Given the description of an element on the screen output the (x, y) to click on. 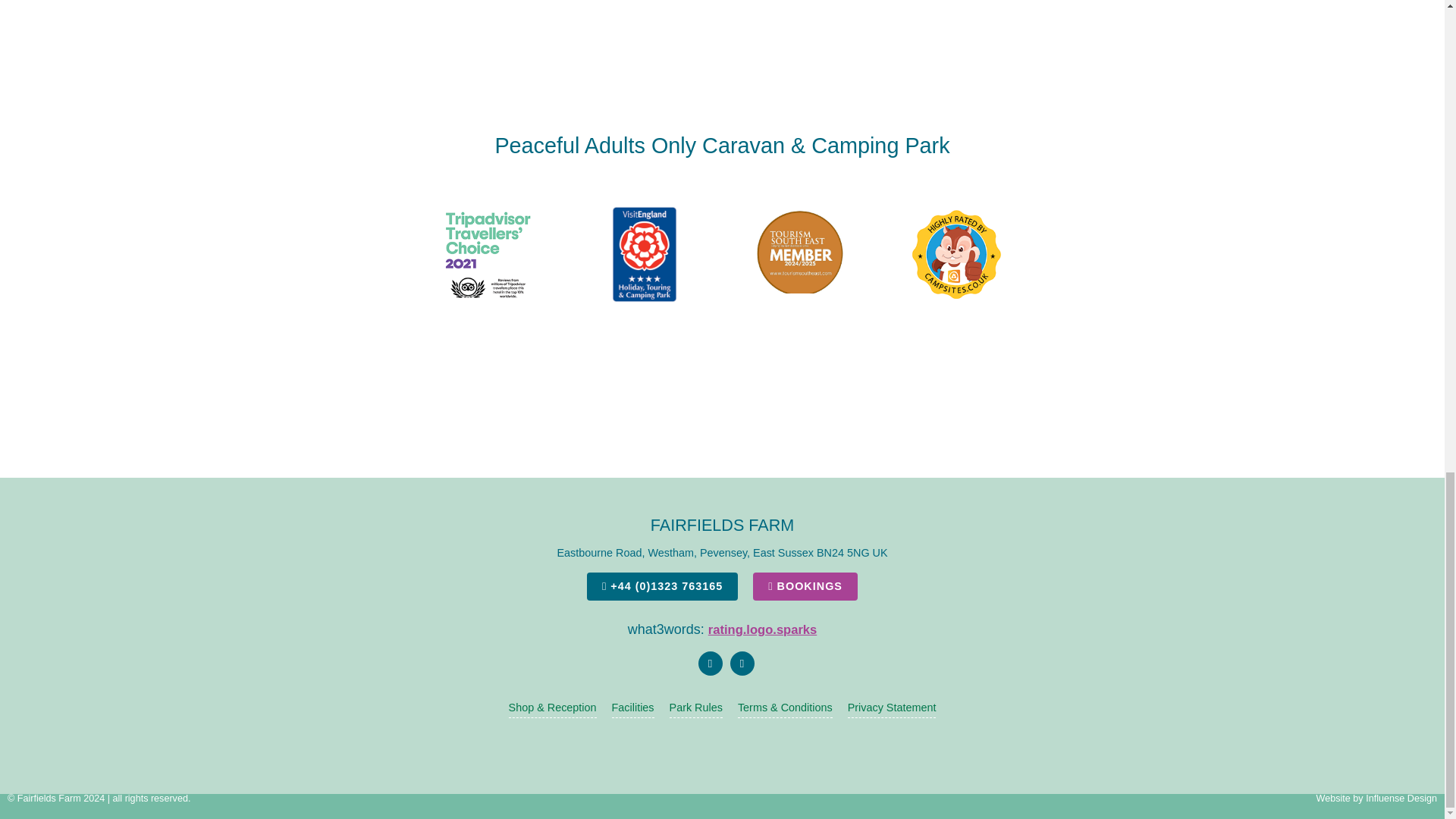
BOOKINGS (804, 586)
rating.logo.sparks (761, 629)
Find us on Facebook (709, 663)
Tripadvisor Travellers' Choice 2021 (487, 254)
Highly Rate Campsites.co.uk (956, 254)
Web Designer (1401, 798)
Tourism South East Member (800, 254)
click to call us (662, 586)
Find us on Instagram (741, 663)
